Given the description of an element on the screen output the (x, y) to click on. 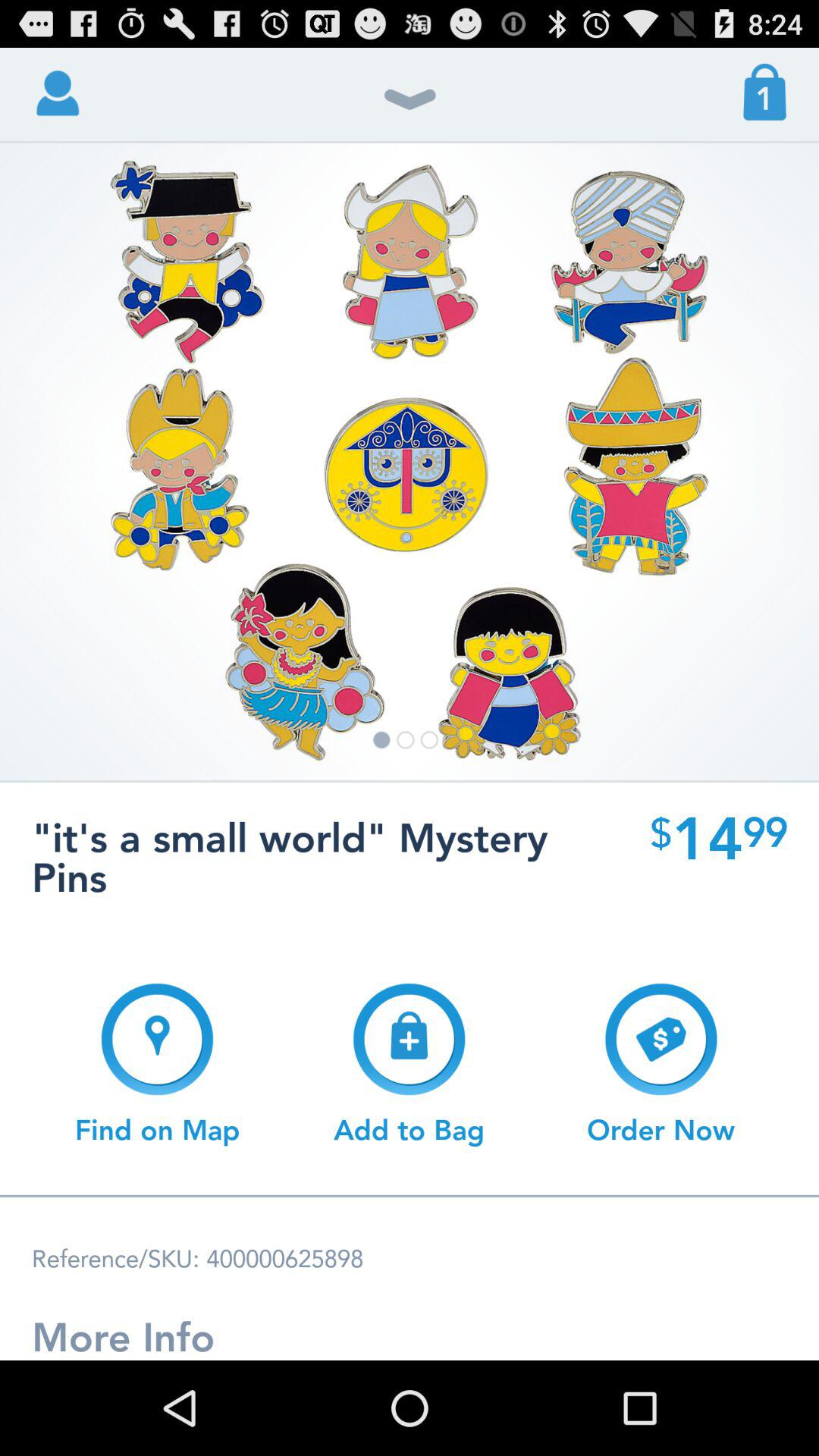
turn on icon next to 1 item (409, 107)
